Given the description of an element on the screen output the (x, y) to click on. 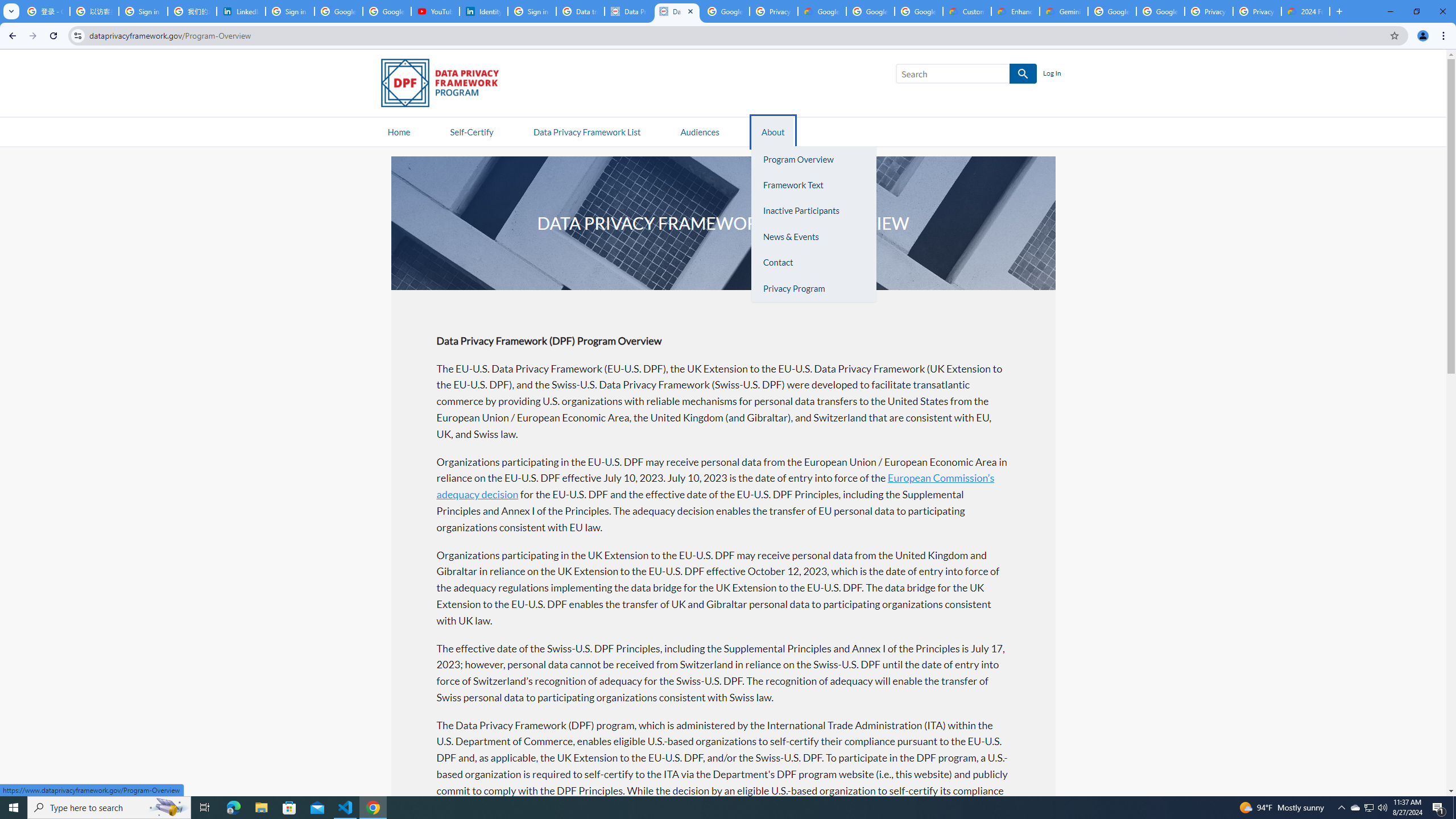
Gemini for Business and Developers | Google Cloud (1064, 11)
Privacy Program (813, 288)
LinkedIn Privacy Policy (240, 11)
Data Privacy Framework (676, 11)
Google Workspace - Specific Terms (918, 11)
Home (398, 131)
Google Cloud Terms Directory | Google Cloud (822, 11)
Self-Certify (471, 131)
Framework Text (813, 184)
Sign in - Google Accounts (143, 11)
